Given the description of an element on the screen output the (x, y) to click on. 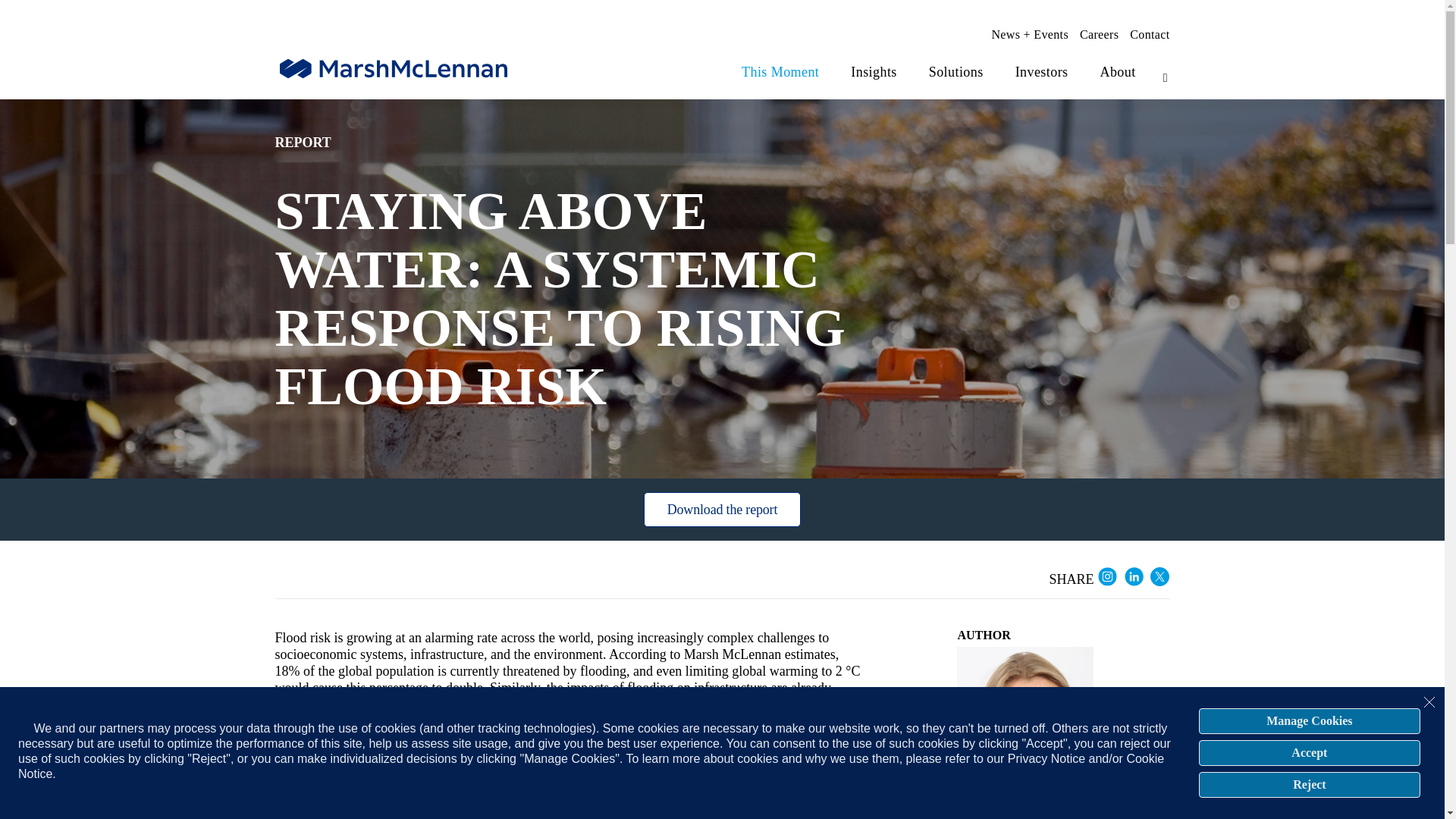
Manage Cookies (1309, 720)
Investors (1041, 72)
Careers (1099, 34)
This Moment (780, 72)
Insights (873, 72)
Contact (1149, 34)
Accept (1309, 752)
Reject (1309, 784)
Solutions (956, 72)
